Given the description of an element on the screen output the (x, y) to click on. 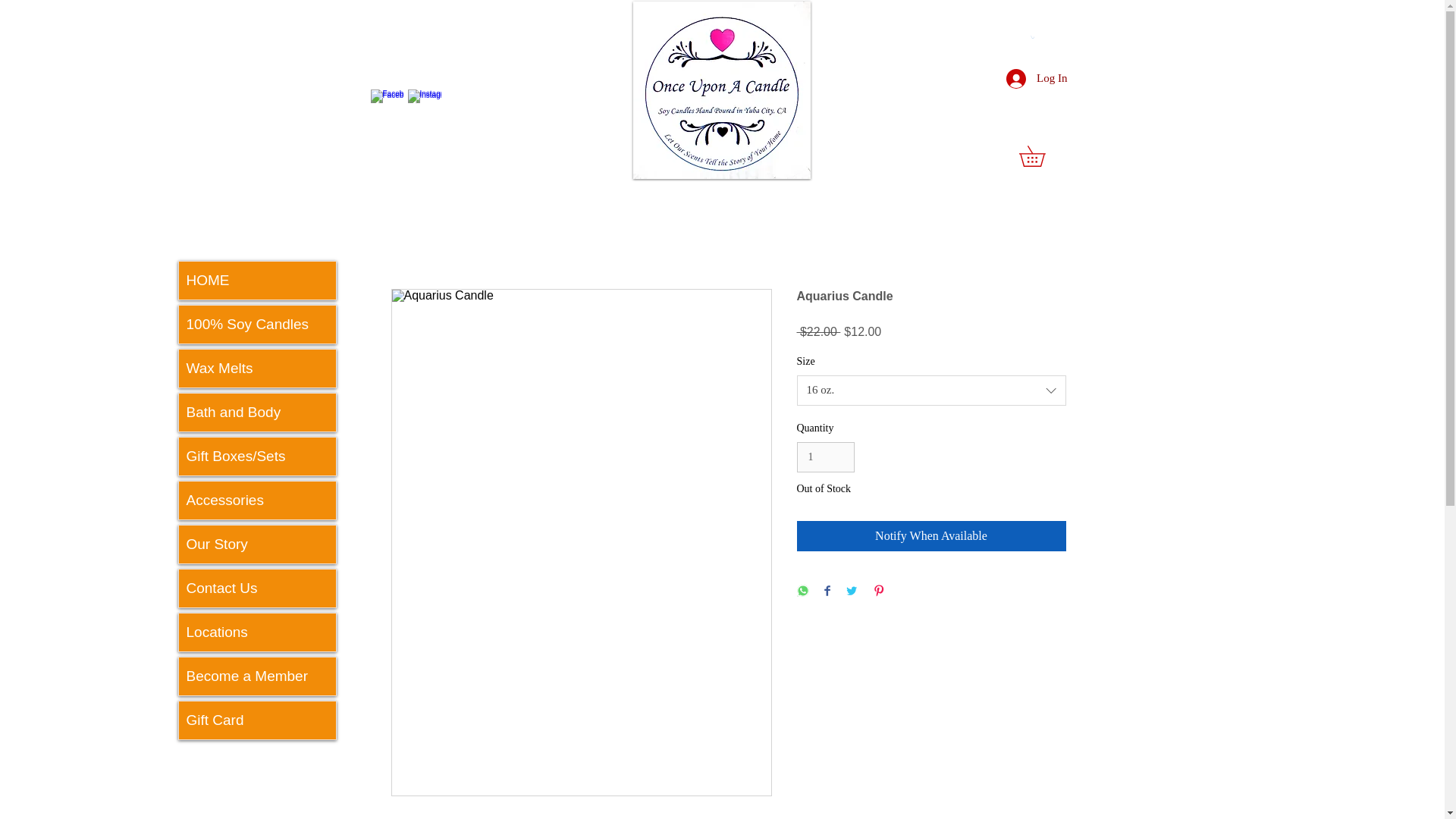
16 oz. (930, 405)
Contact Us (257, 588)
Bath and Body (257, 412)
Accessories (257, 500)
Our Story (257, 544)
HOME (257, 280)
Log In (1036, 77)
Gift Card (257, 720)
Become a Member (257, 676)
Locations (257, 632)
